Given the description of an element on the screen output the (x, y) to click on. 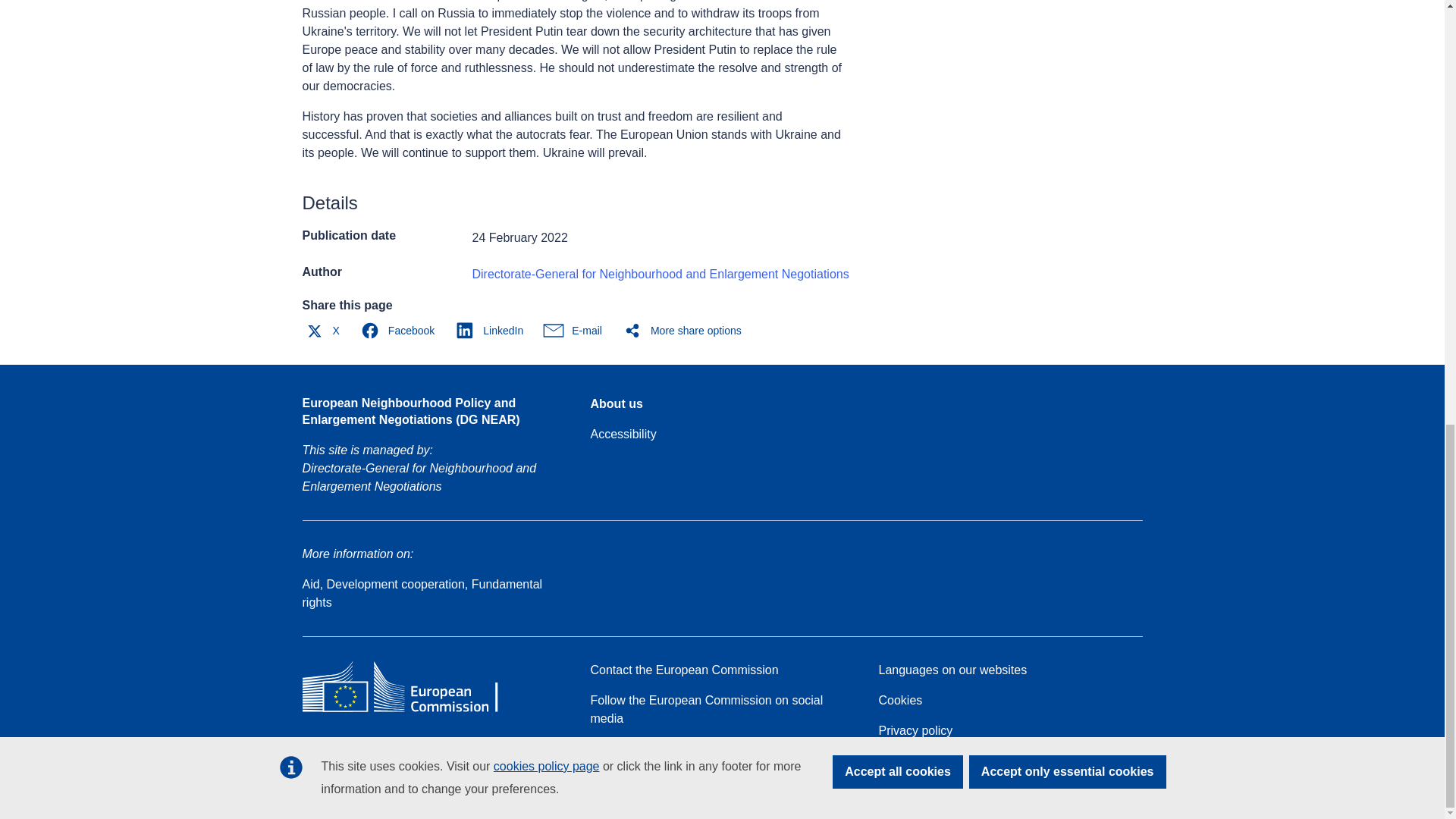
European Commission (411, 711)
